Given the description of an element on the screen output the (x, y) to click on. 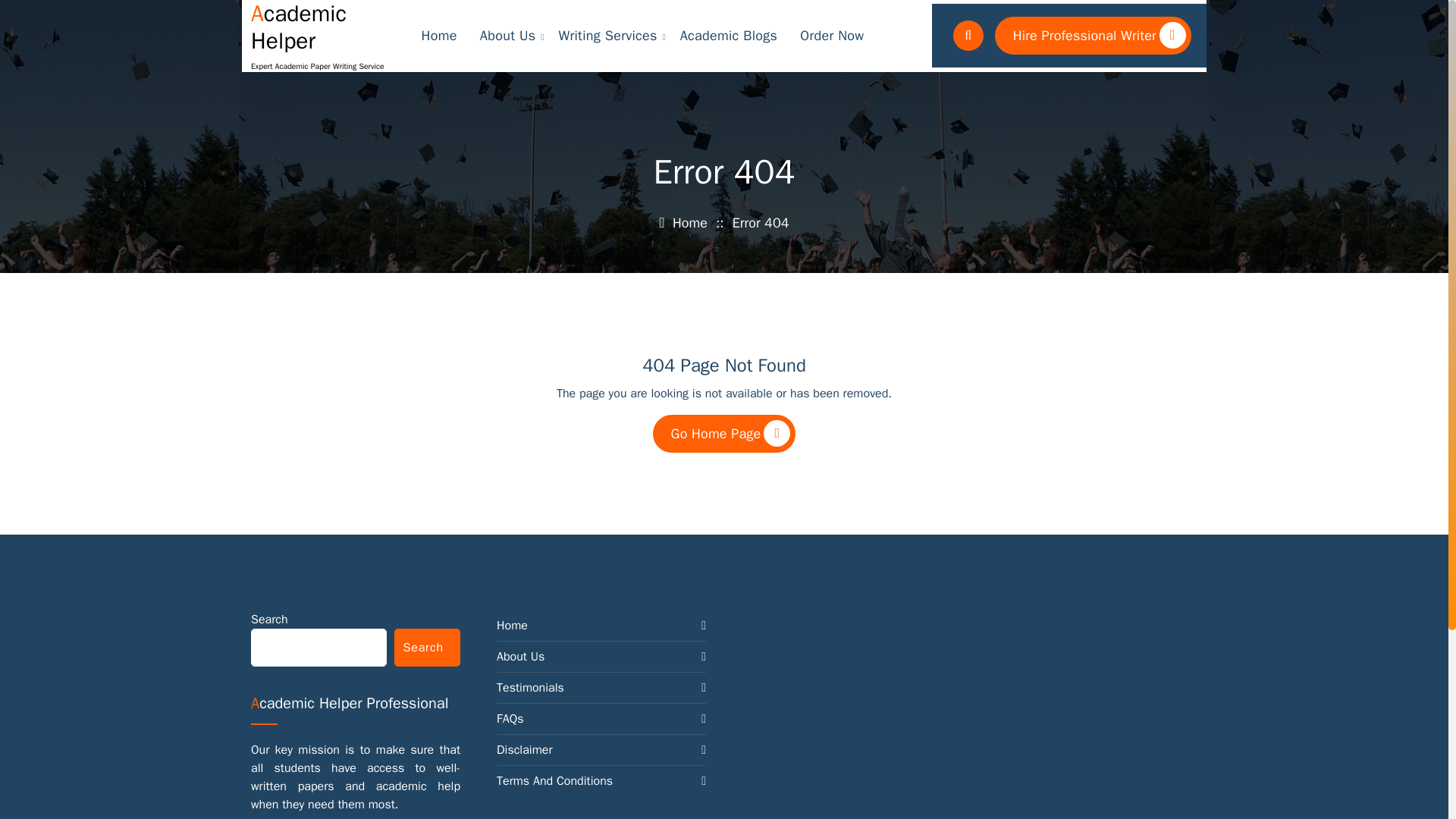
Home (438, 35)
Academic Helper (321, 27)
Writing Services (607, 35)
Academic Blogs (728, 35)
Writing Services (607, 35)
About Us (507, 35)
Hire Professional Writer (1092, 35)
About Us (507, 35)
Home (438, 35)
Order Now (832, 35)
